Given the description of an element on the screen output the (x, y) to click on. 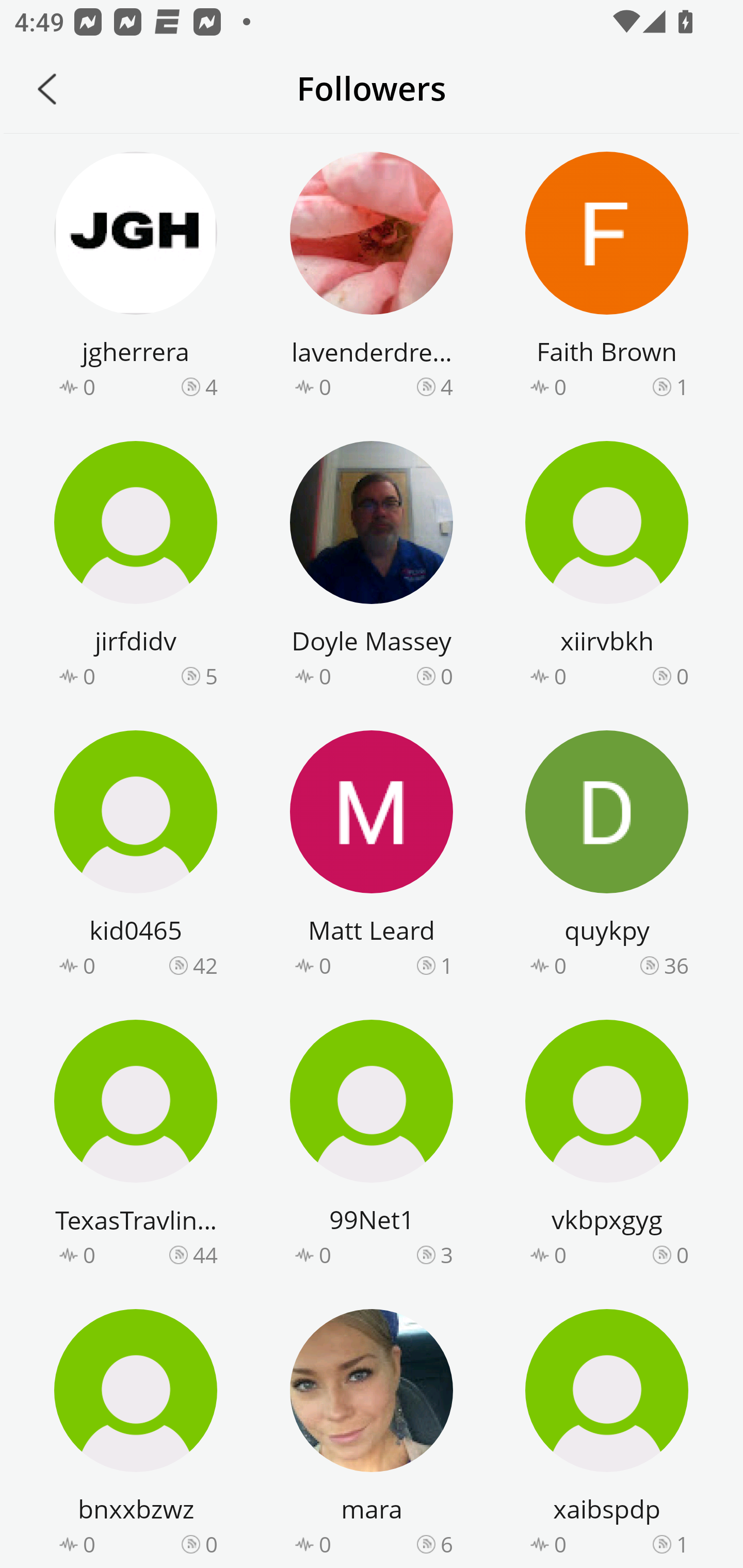
Back (46, 88)
jgherrera 0 4 (135, 278)
lavenderdreams71 0 4 (371, 278)
Faith Brown 0 1 (606, 278)
4 (211, 386)
4 (446, 386)
1 (682, 386)
jirfdidv 0 5 (135, 567)
Doyle Massey 0 0 (371, 567)
xiirvbkh 0 0 (606, 567)
5 (211, 676)
0 (446, 676)
0 (682, 676)
kid0465 0 42 (135, 856)
Matt Leard 0 1 (371, 856)
quykpy 0 36 (606, 856)
42 (205, 965)
1 (446, 965)
36 (676, 965)
TexasTravlinMan 0 44 (135, 1146)
99Net1 0 3 (371, 1146)
vkbpxgyg 0 0 (606, 1146)
44 (205, 1255)
3 (446, 1255)
0 (682, 1255)
bnxxbzwz 0 0 (135, 1435)
mara 0 6 (371, 1435)
xaibspdp 0 1 (606, 1435)
0 (211, 1543)
6 (446, 1543)
1 (682, 1543)
